Given the description of an element on the screen output the (x, y) to click on. 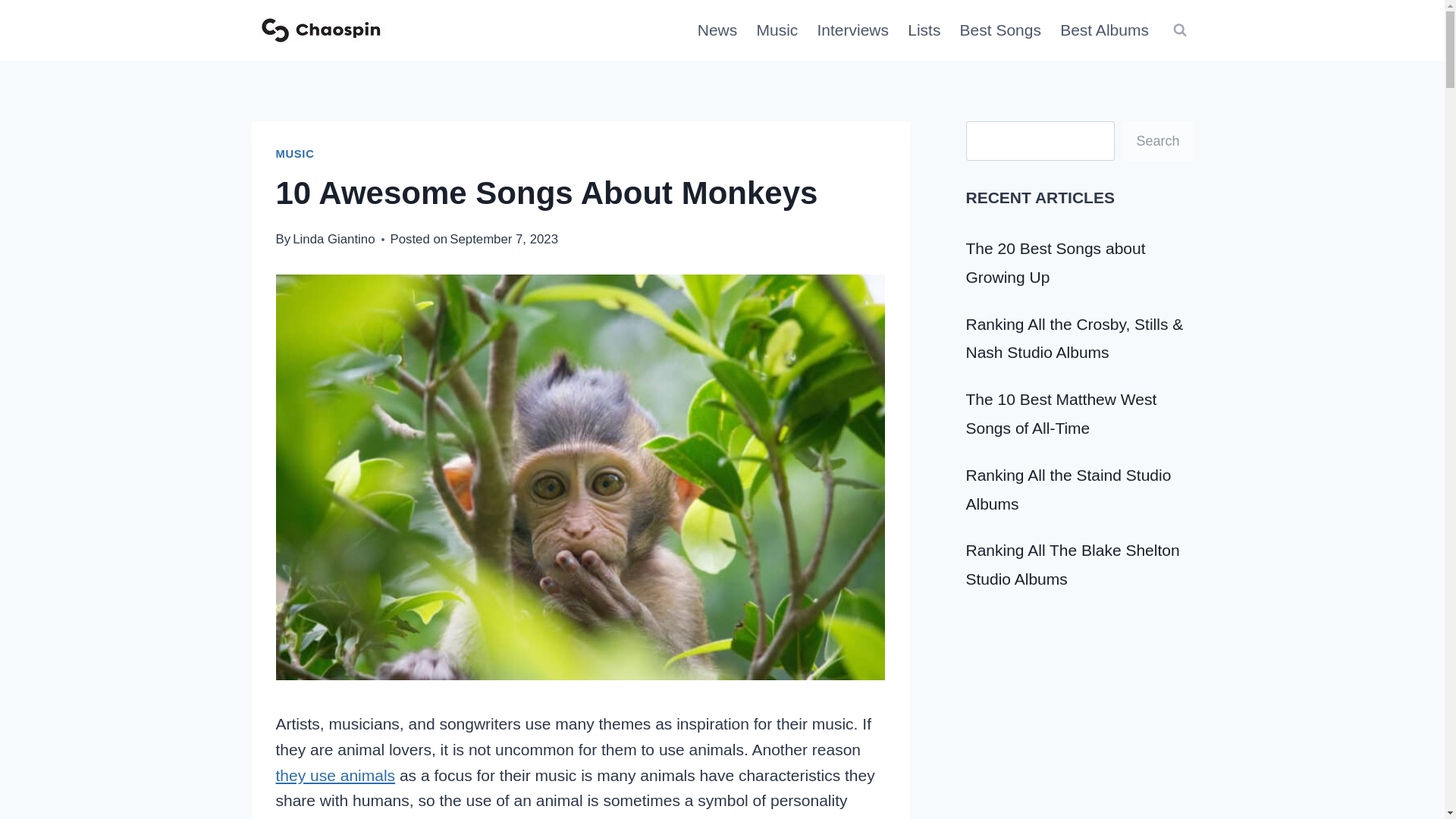
News (716, 30)
MUSIC (295, 153)
Lists (924, 30)
Linda Giantino (333, 238)
Best Albums (1104, 30)
Music (777, 30)
Best Songs (1000, 30)
they use animals (336, 774)
Interviews (853, 30)
